Given the description of an element on the screen output the (x, y) to click on. 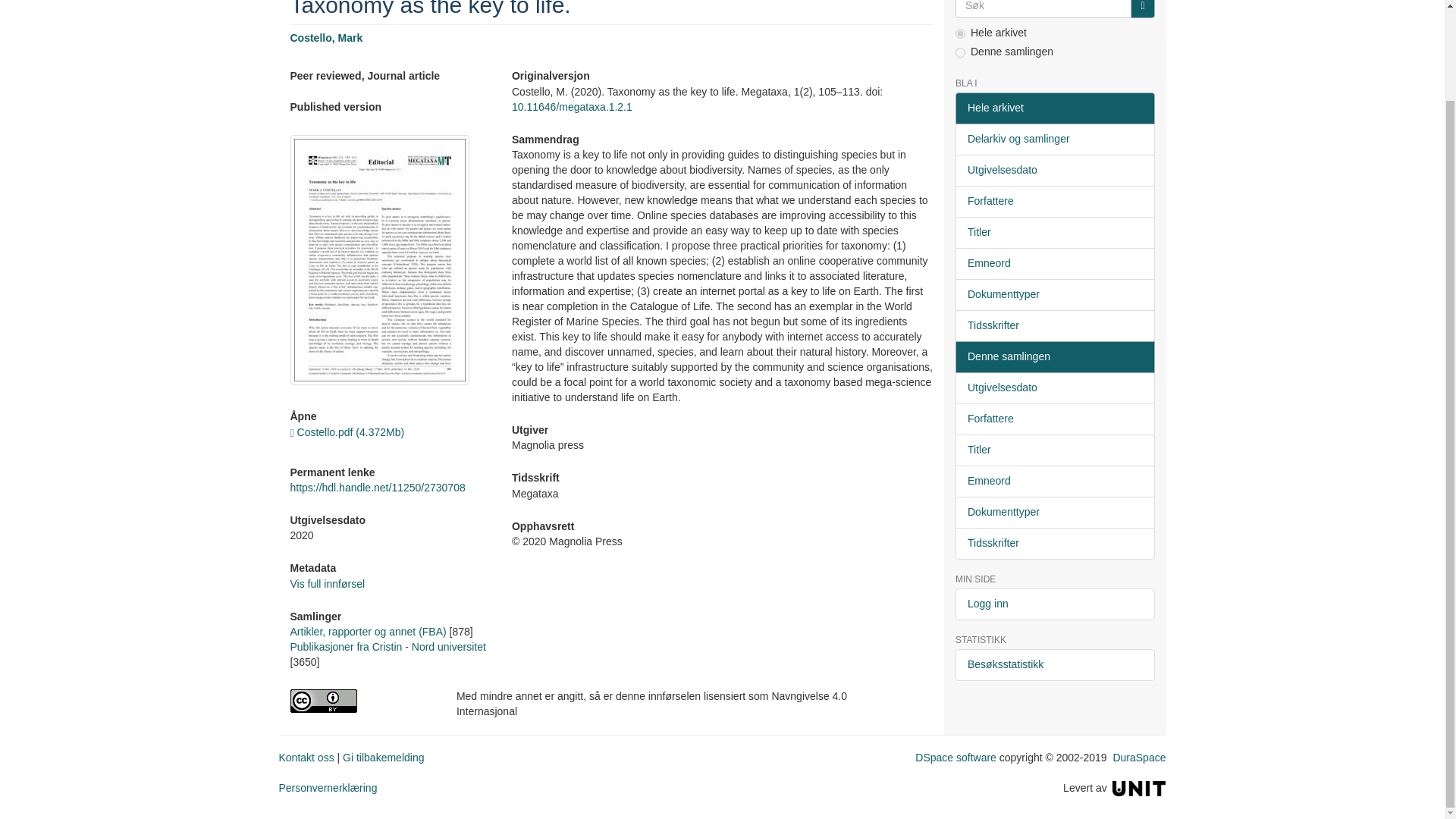
Unit (1139, 787)
Titler (1054, 232)
Delarkiv og samlinger (1054, 139)
Navngivelse 4.0 Internasjonal (360, 700)
Utgivelsesdato (1054, 170)
Costello, Mark (325, 37)
Hele arkivet (1054, 108)
Forfattere (1054, 201)
Publikasjoner fra Cristin - Nord universitet (386, 646)
